Given the description of an element on the screen output the (x, y) to click on. 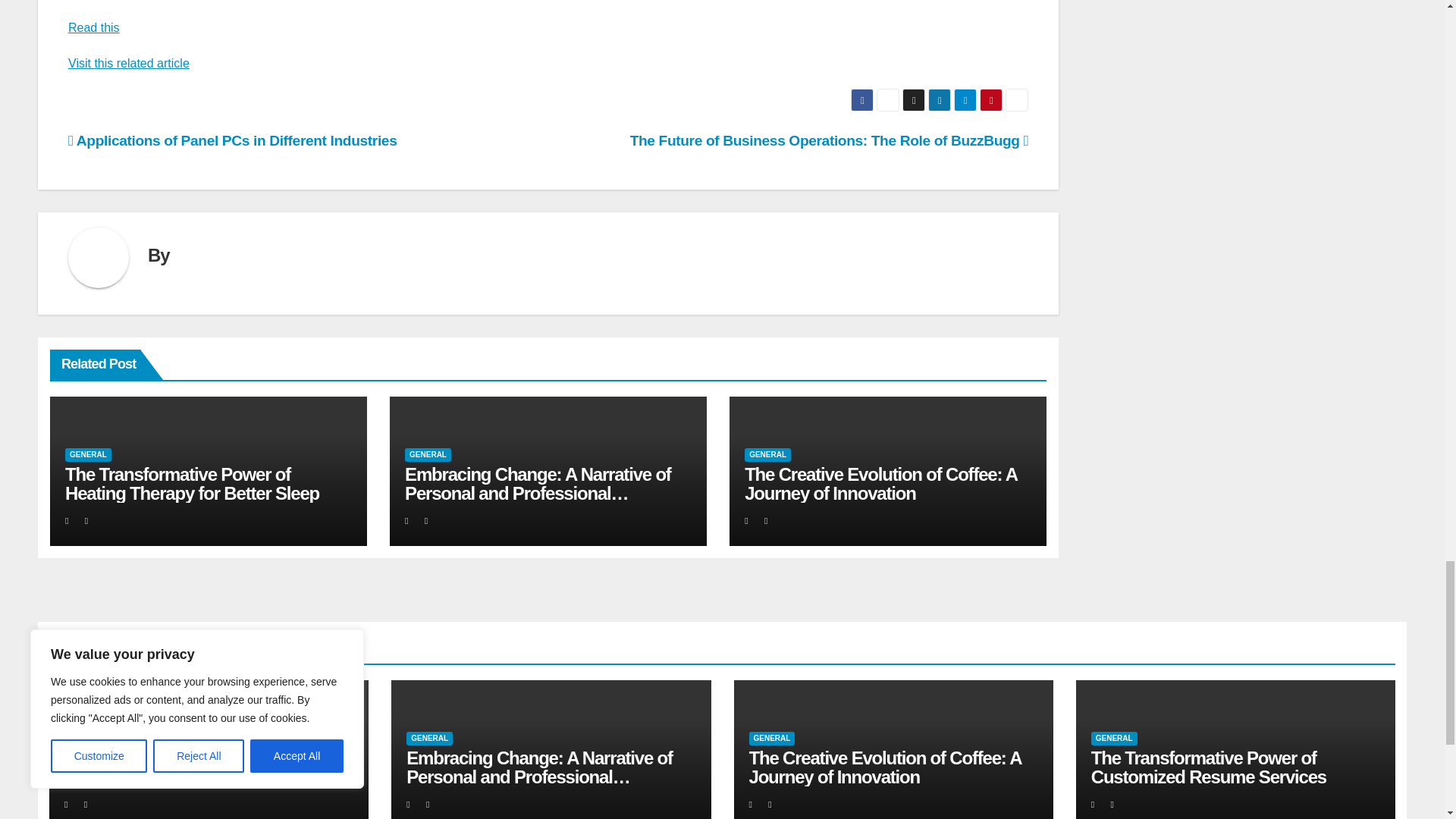
Read this (93, 27)
Visit this related article (128, 62)
